Given the description of an element on the screen output the (x, y) to click on. 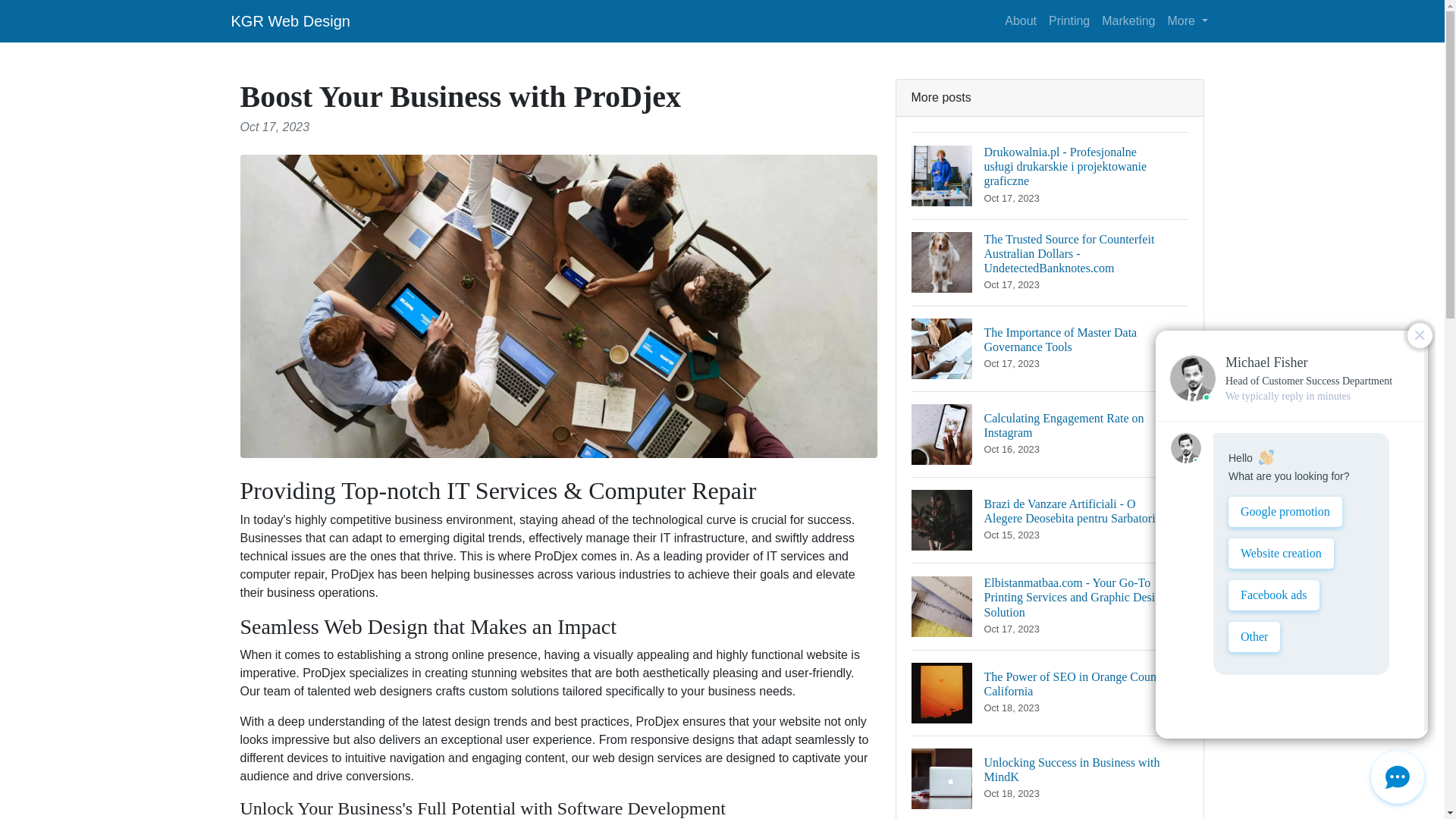
More (1050, 692)
Printing (1187, 20)
KGR Web Design (1069, 20)
About (289, 20)
Marketing (1050, 433)
